Given the description of an element on the screen output the (x, y) to click on. 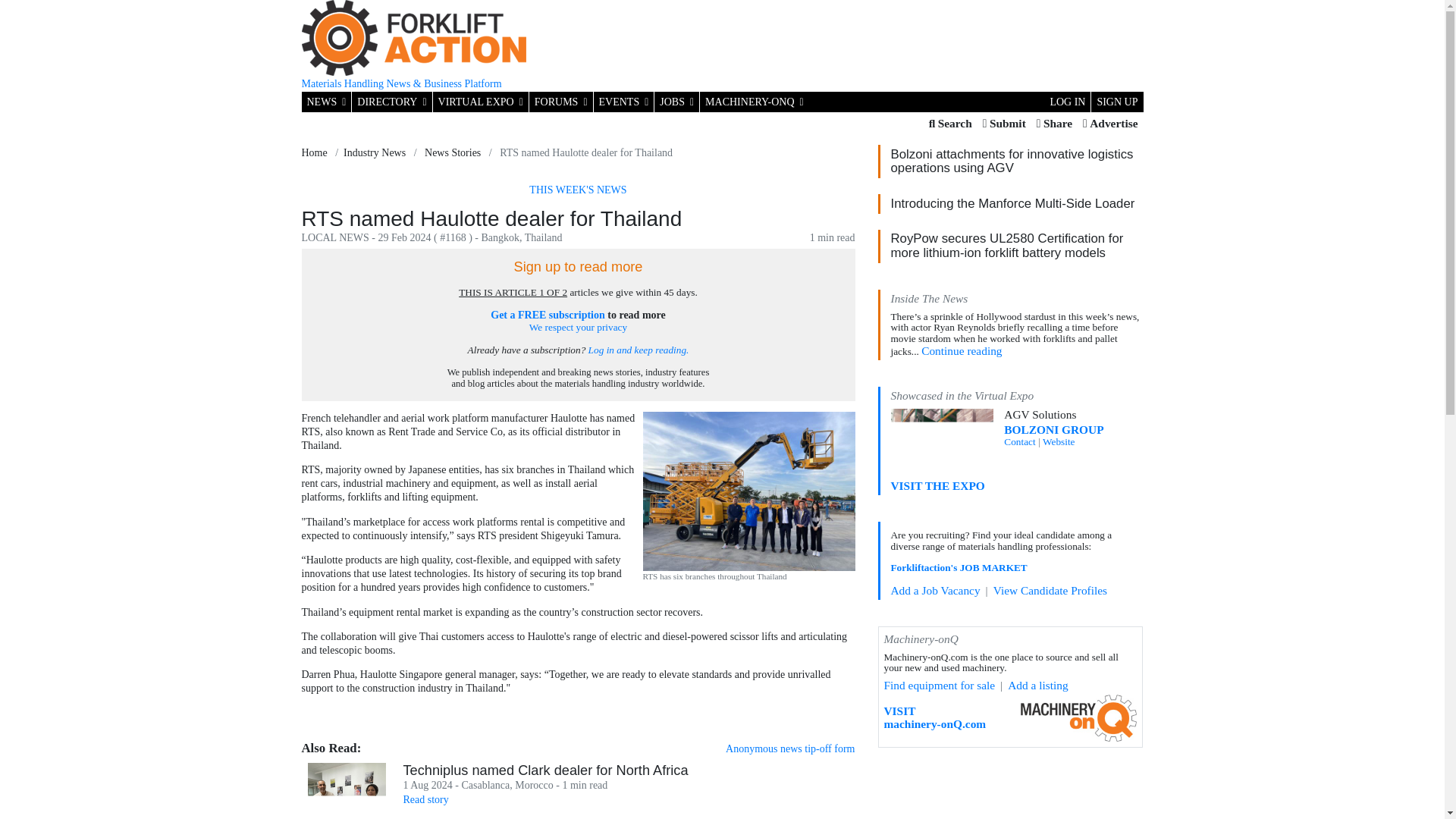
RTS has six branches throughout Thailand (749, 490)
NEWS (326, 101)
FORUMS (560, 101)
DIRECTORY (391, 101)
VIRTUAL EXPO (480, 101)
Share this page (1053, 124)
Submit your content (1003, 124)
